Given the description of an element on the screen output the (x, y) to click on. 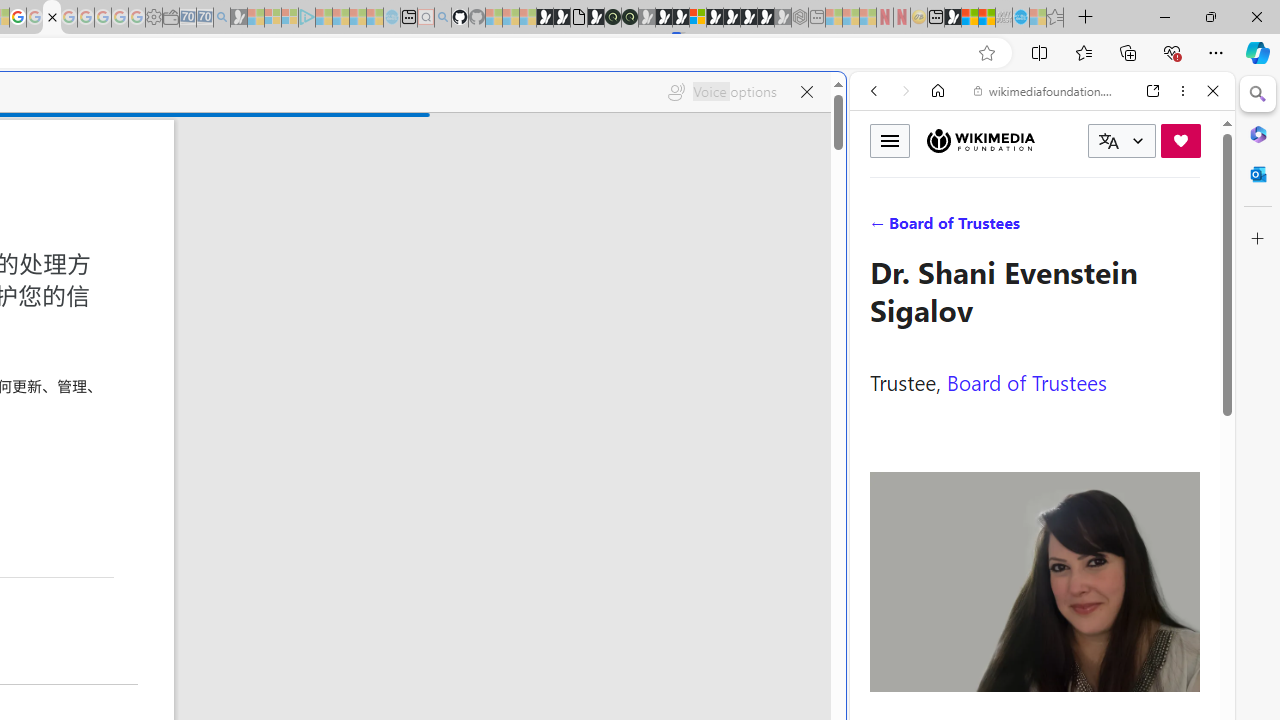
Search or enter web address (343, 191)
Close split screen (844, 102)
wikimediafoundation.org (1045, 90)
Shani Evenstein (1035, 582)
